Given the description of an element on the screen output the (x, y) to click on. 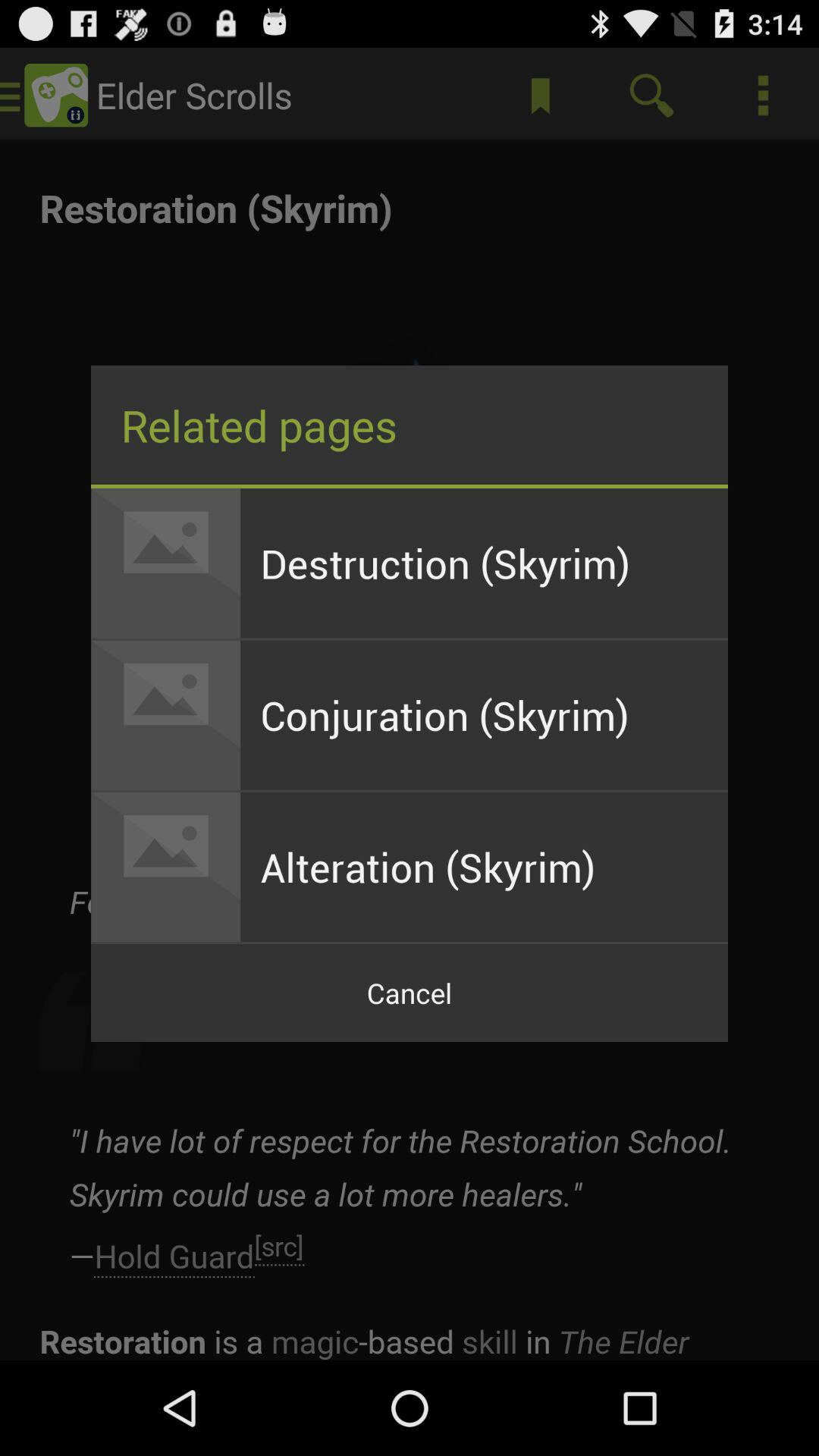
choose cancel (409, 992)
